Given the description of an element on the screen output the (x, y) to click on. 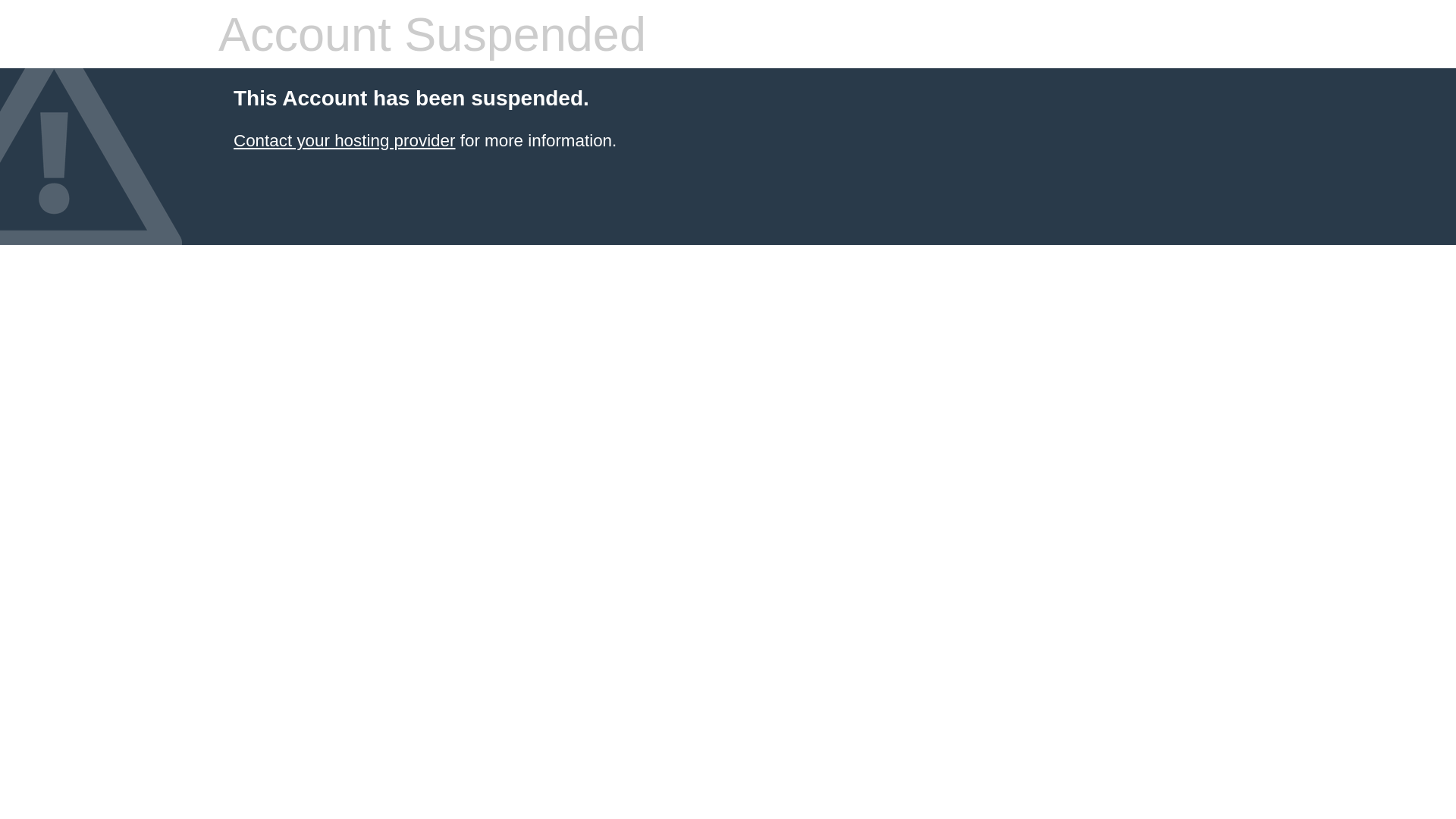
Contact your hosting provider Element type: text (344, 140)
